Given the description of an element on the screen output the (x, y) to click on. 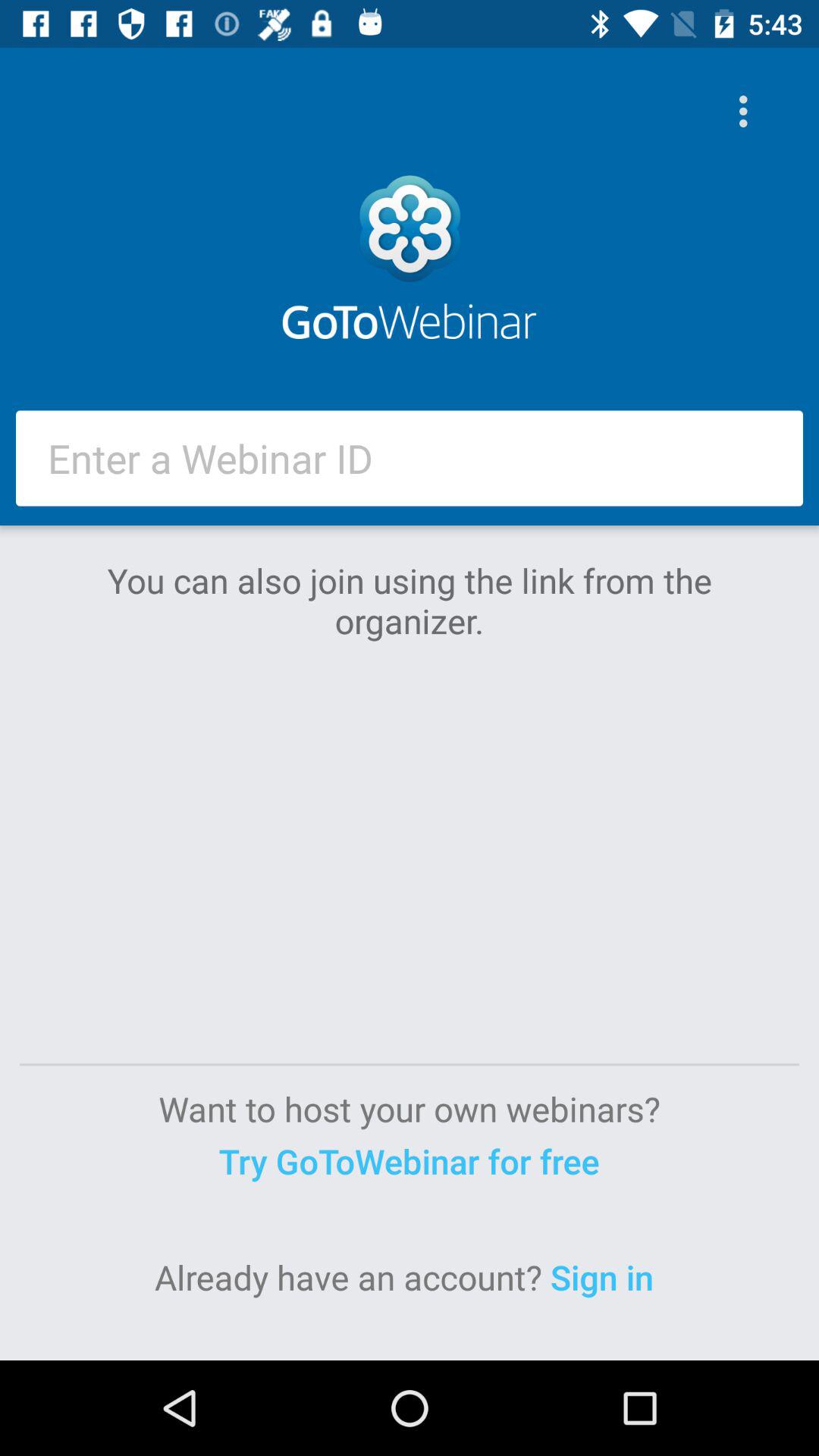
select the try gotowebinar for item (408, 1161)
